Given the description of an element on the screen output the (x, y) to click on. 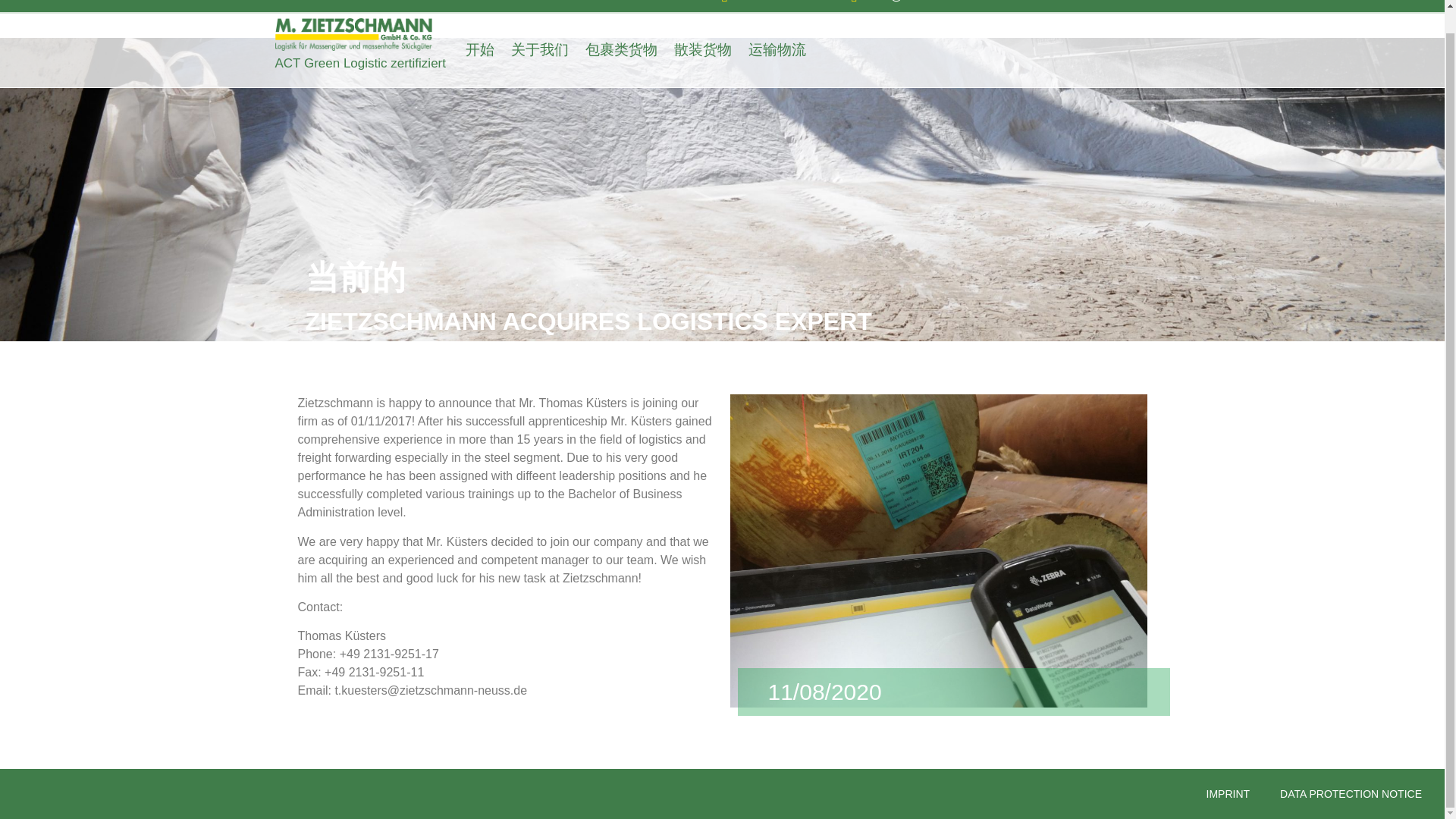
IMPRINT (1228, 793)
DATA PROTECTION NOTICE (1351, 793)
